Given the description of an element on the screen output the (x, y) to click on. 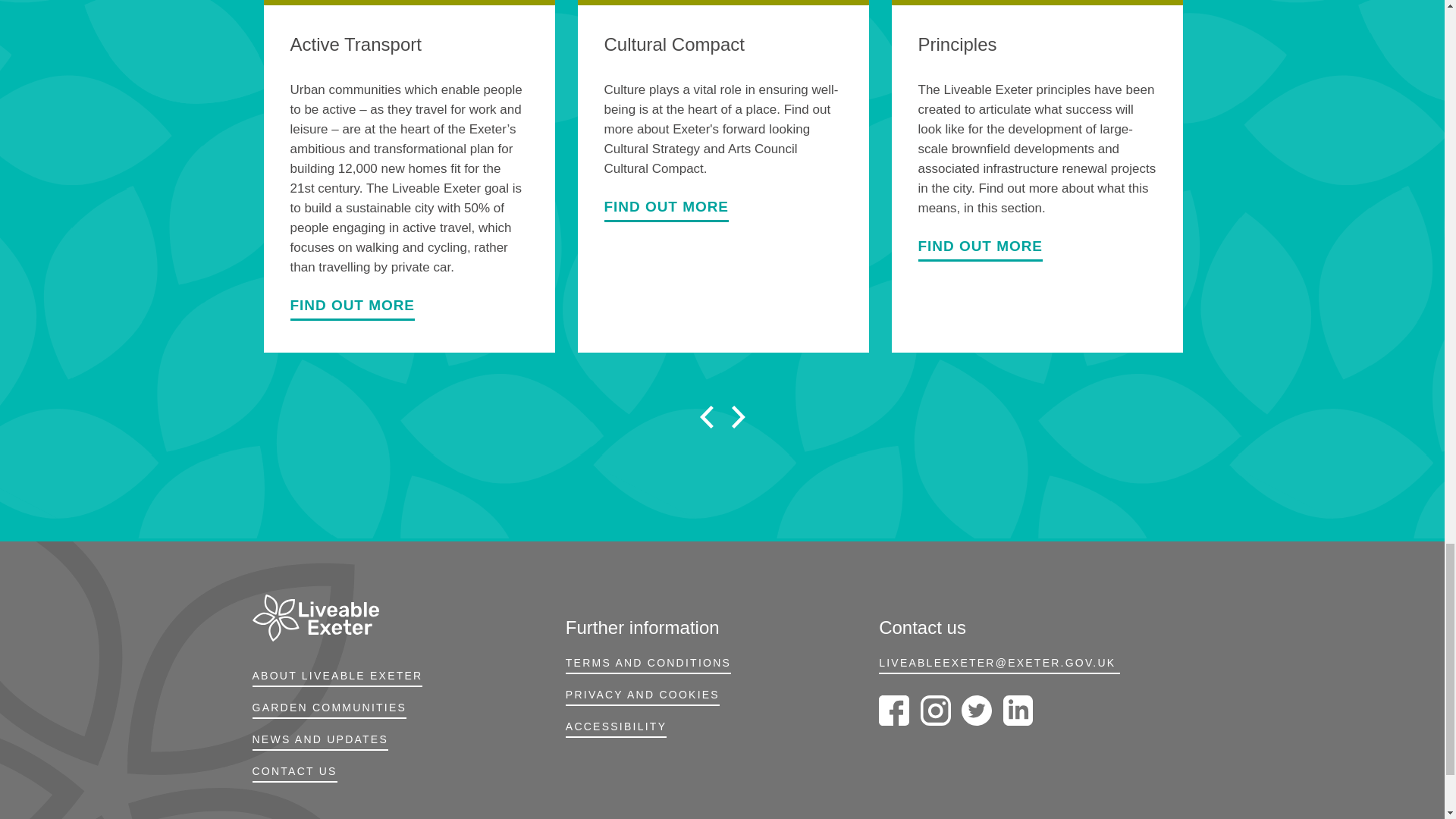
ACCESSIBILITY (616, 729)
LinkedIn (1018, 710)
GARDEN COMMUNITIES (328, 711)
NEWS AND UPDATES (319, 743)
Instagram (935, 710)
Twitter (975, 710)
Facebook (893, 710)
ABOUT LIVEABLE EXETER (336, 679)
FIND OUT MORE (666, 211)
CONTACT US (293, 774)
